Given the description of an element on the screen output the (x, y) to click on. 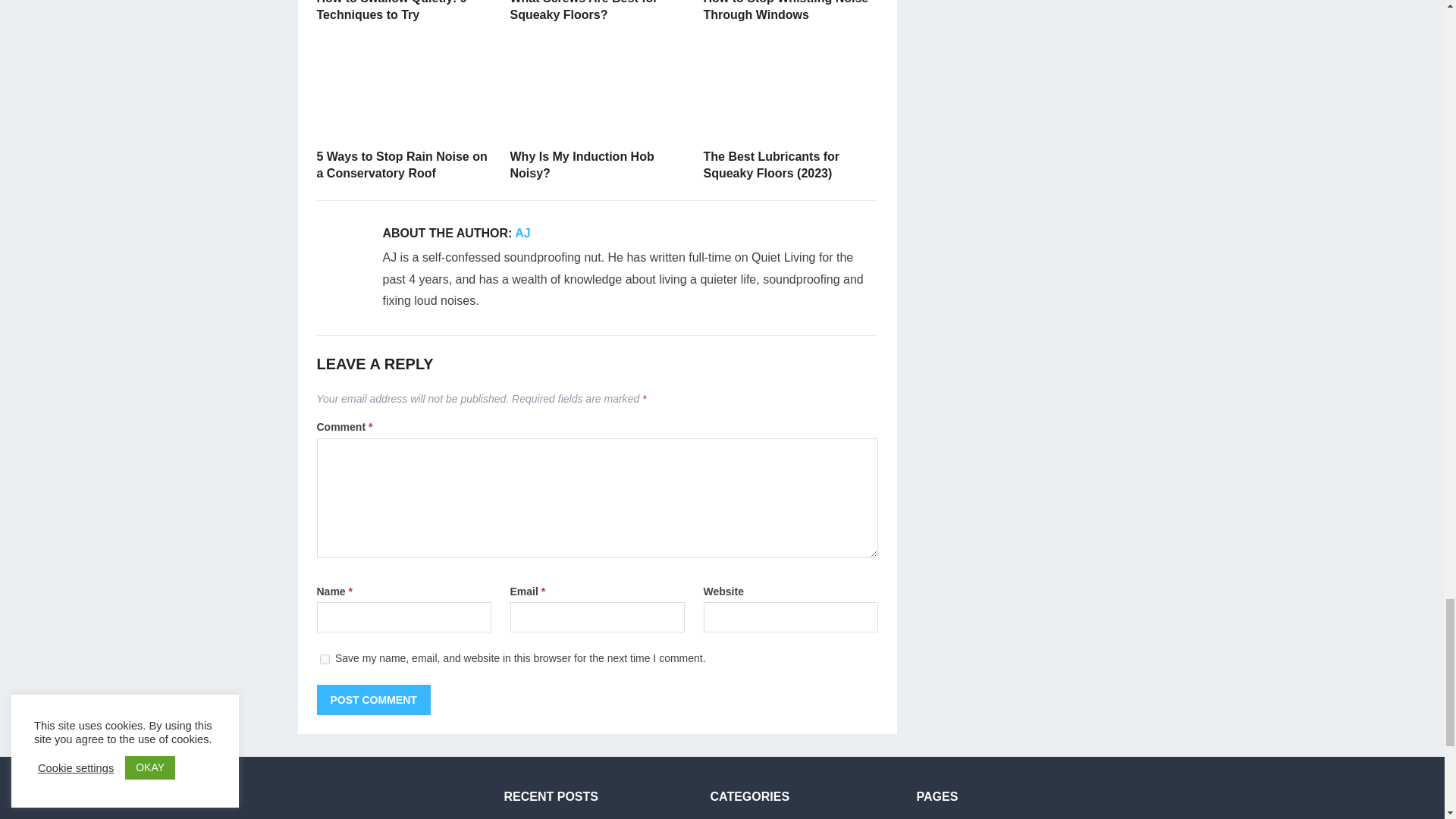
Post Comment (373, 699)
yes (325, 659)
